Given the description of an element on the screen output the (x, y) to click on. 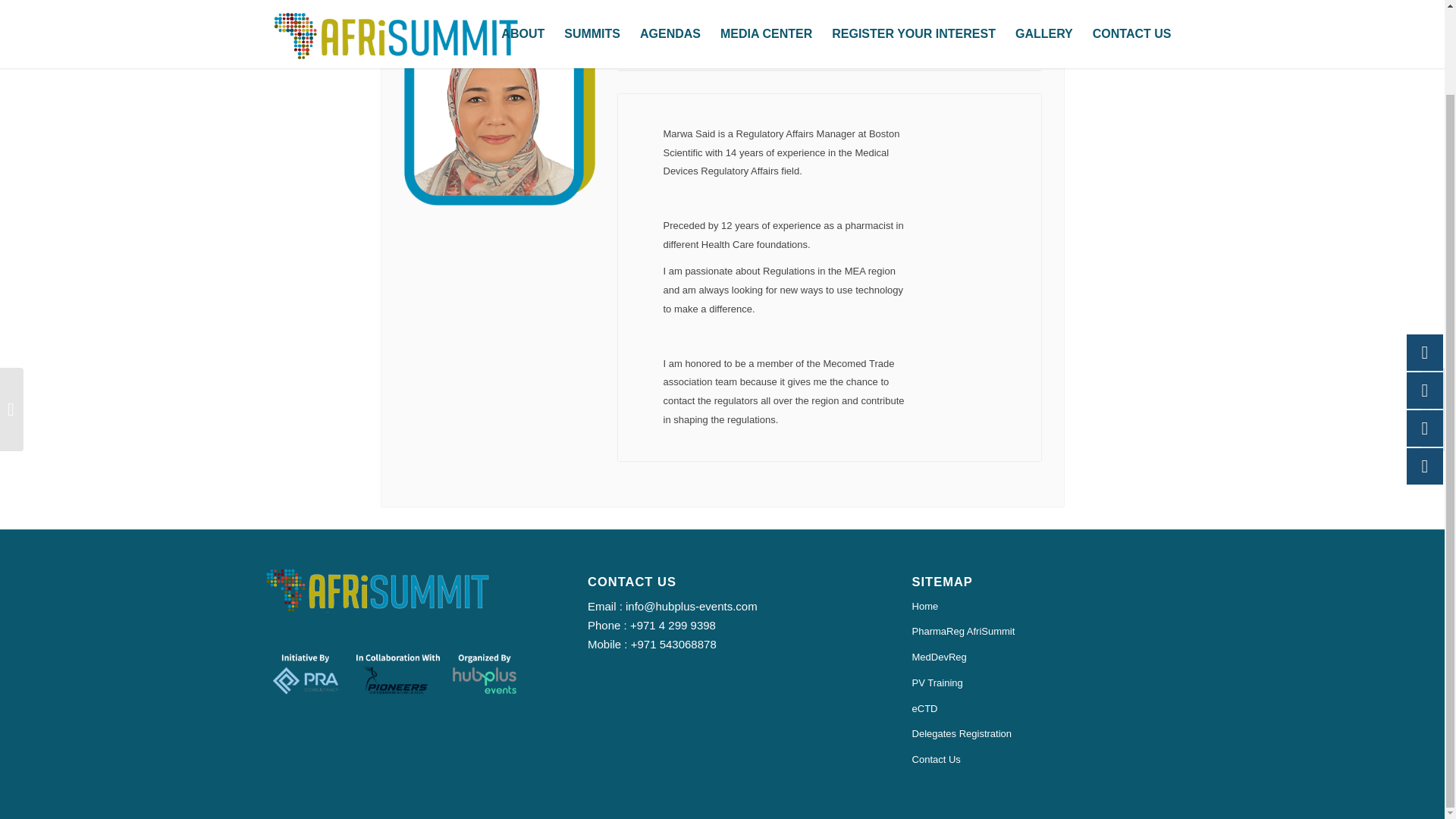
eCTD (1046, 709)
PV Training (1046, 683)
MedDevReg (1046, 657)
Home (1046, 606)
Delegates Registration (1046, 734)
PharmaReg AfriSummit (1046, 632)
Contact Us (1046, 760)
